Given the description of an element on the screen output the (x, y) to click on. 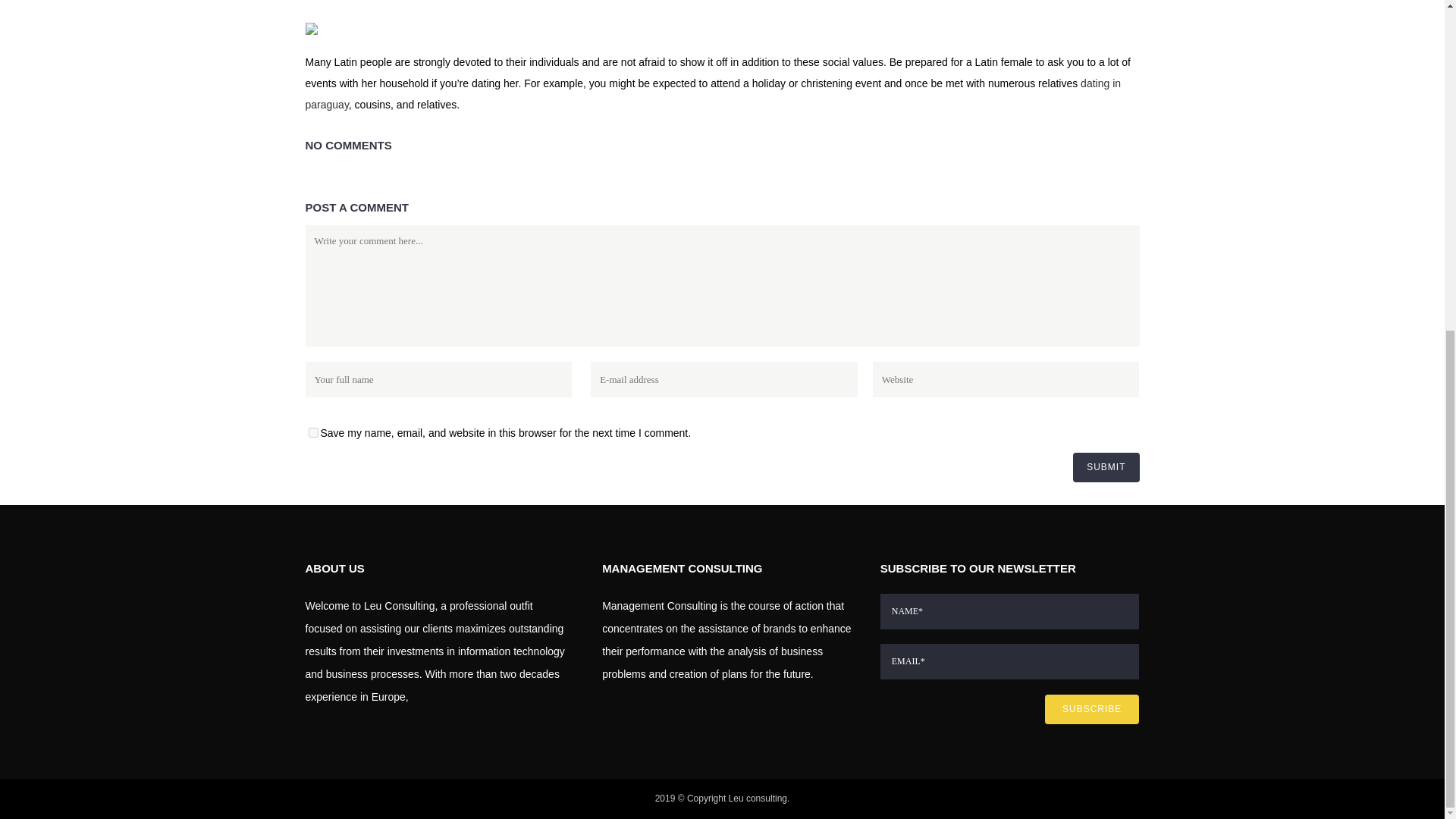
yes (312, 432)
Submit (1105, 467)
dating in paraguay (712, 93)
Subscribe (1091, 708)
